Given the description of an element on the screen output the (x, y) to click on. 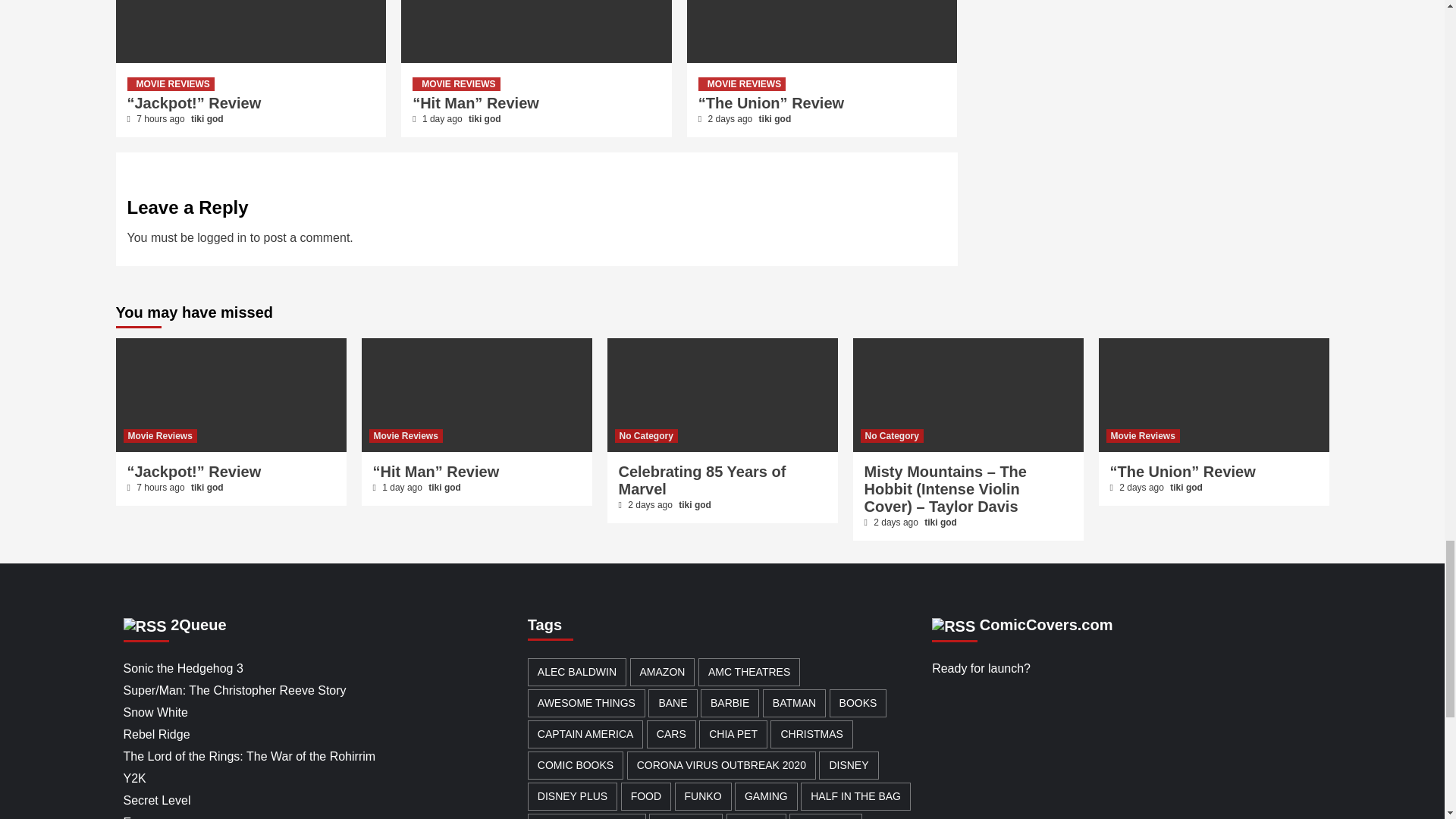
tiki god (484, 118)
tiki god (207, 118)
MOVIE REVIEWS (455, 83)
MOVIE REVIEWS (171, 83)
